Given the description of an element on the screen output the (x, y) to click on. 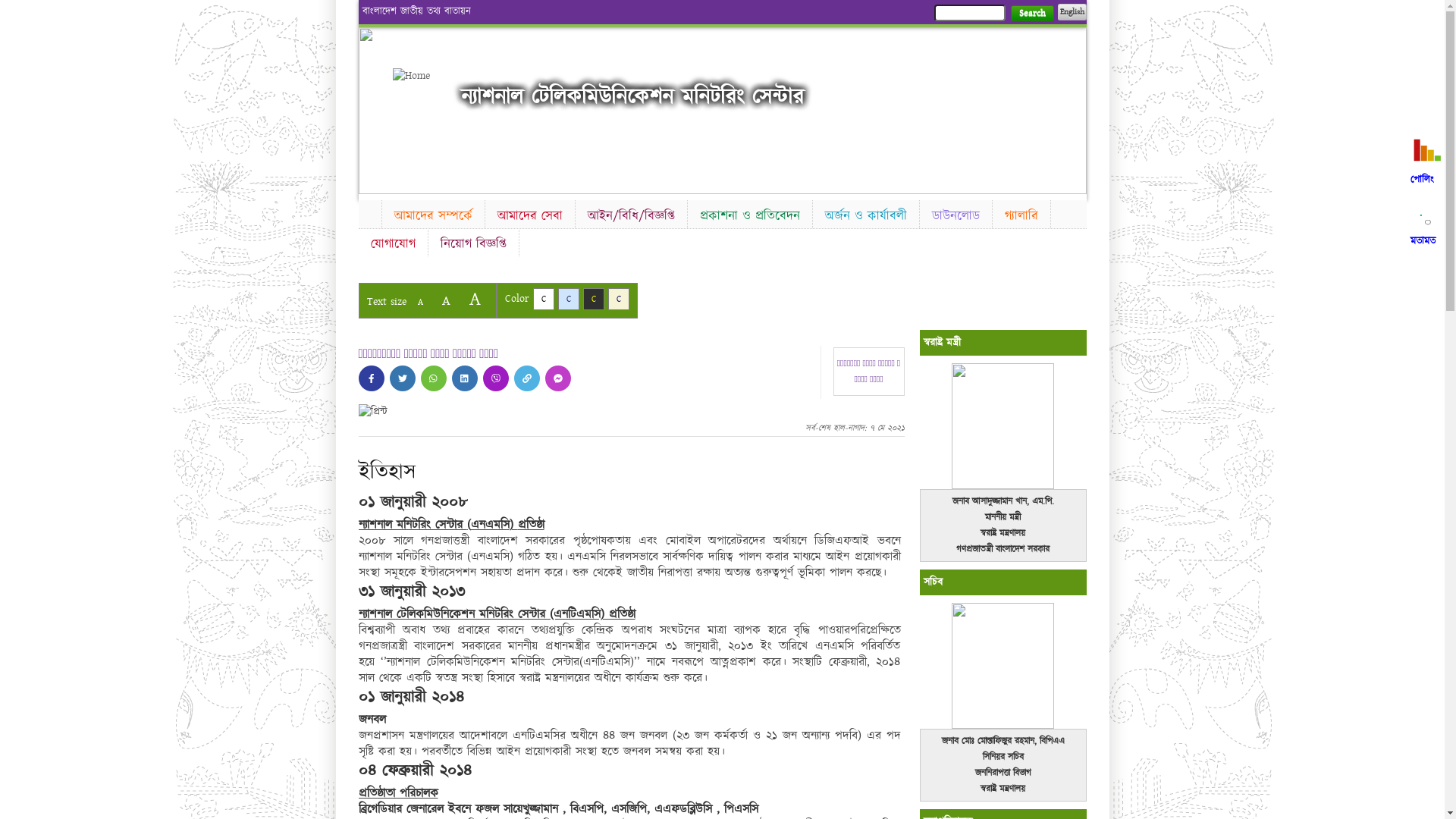
Home Element type: hover (418, 76)
C Element type: text (568, 299)
C Element type: text (542, 299)
A Element type: text (419, 301)
English Element type: text (1071, 11)
A Element type: text (474, 298)
A Element type: text (445, 300)
Search Element type: text (1031, 13)
C Element type: text (592, 299)
Home Element type: hover (368, 211)
C Element type: text (618, 299)
